Given the description of an element on the screen output the (x, y) to click on. 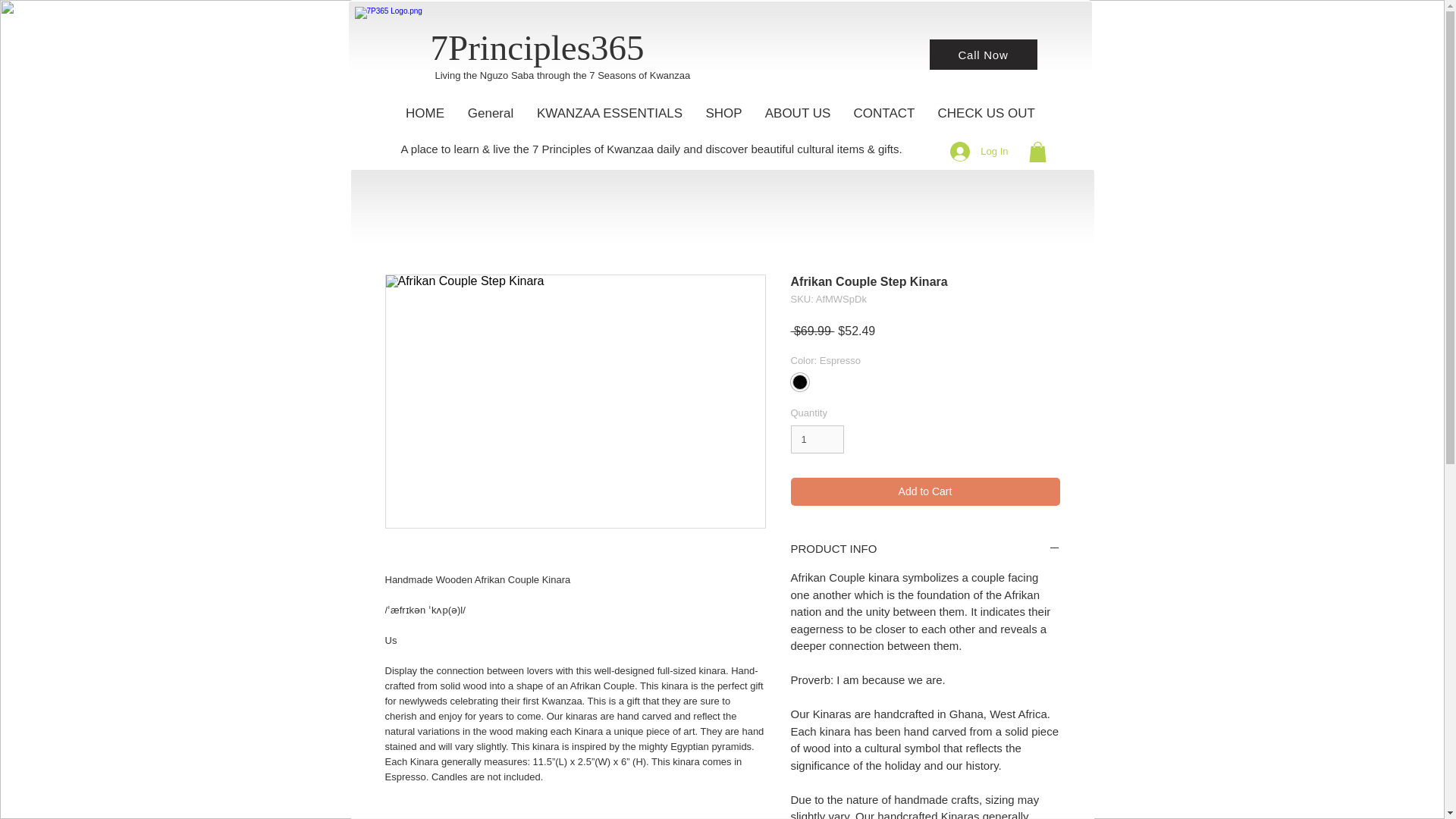
Living the Nguzo Saba through the 7 Seasons of Kwanzaa (562, 75)
7Principles365 (537, 47)
ABOUT US (798, 113)
Log In (978, 151)
Add to Cart (924, 491)
HOME (425, 113)
PRODUCT INFO (924, 549)
CONTACT (883, 113)
Call Now (983, 54)
General (491, 113)
1 (817, 439)
